Given the description of an element on the screen output the (x, y) to click on. 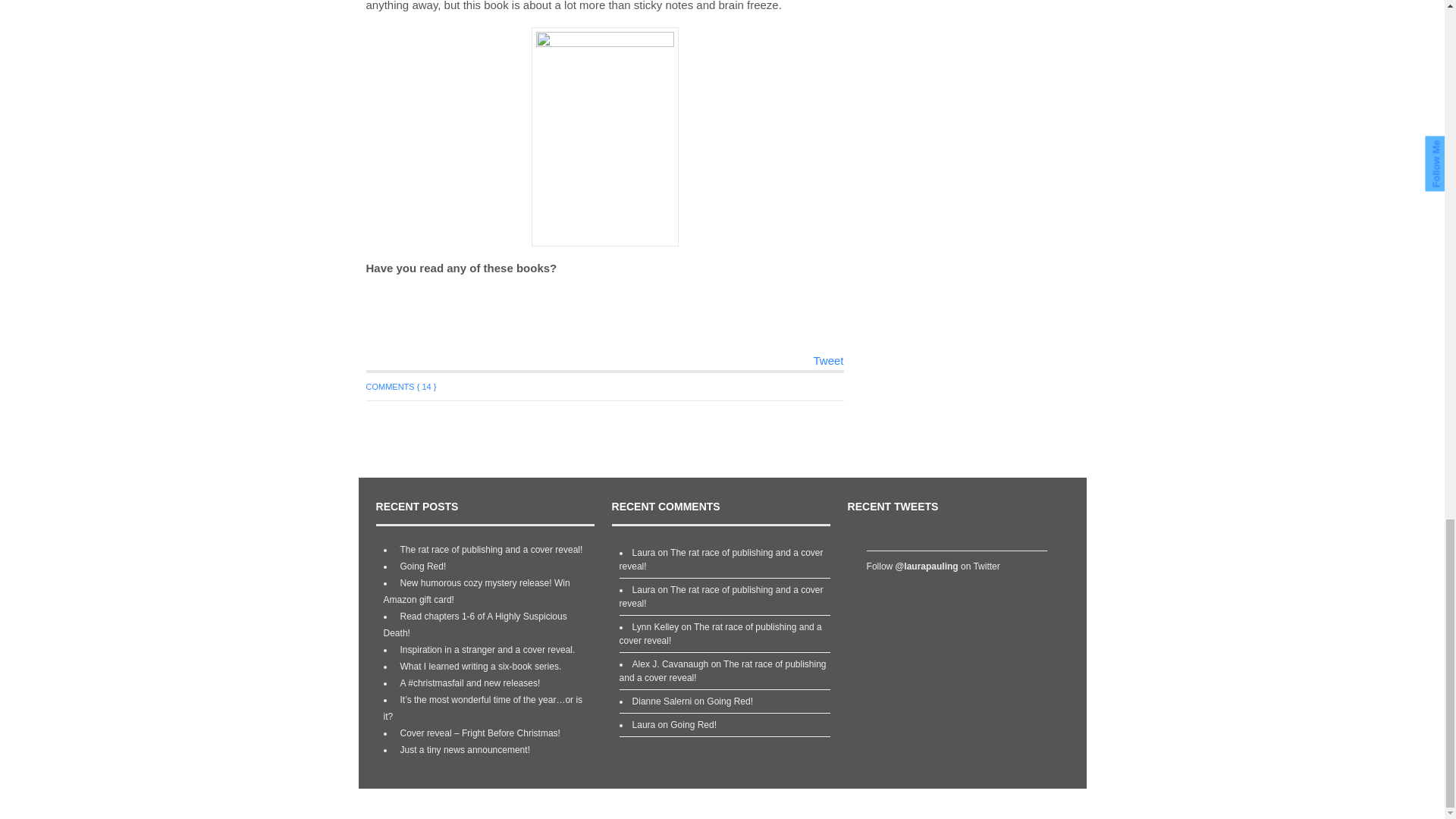
New humorous cozy mystery release! Win Amazon gift card! (477, 591)
Read chapters 1-6 of A Highly Suspicious Death! (475, 624)
The rat race of publishing and a cover reveal! (721, 633)
The rat race of publishing and a cover reveal! (722, 596)
What I learned writing a six-book series. (479, 665)
The rat race of publishing and a cover reveal! (489, 549)
Lynn Kelley (655, 626)
Tweet (827, 359)
Going Red! (692, 724)
Going Red! (729, 701)
